Given the description of an element on the screen output the (x, y) to click on. 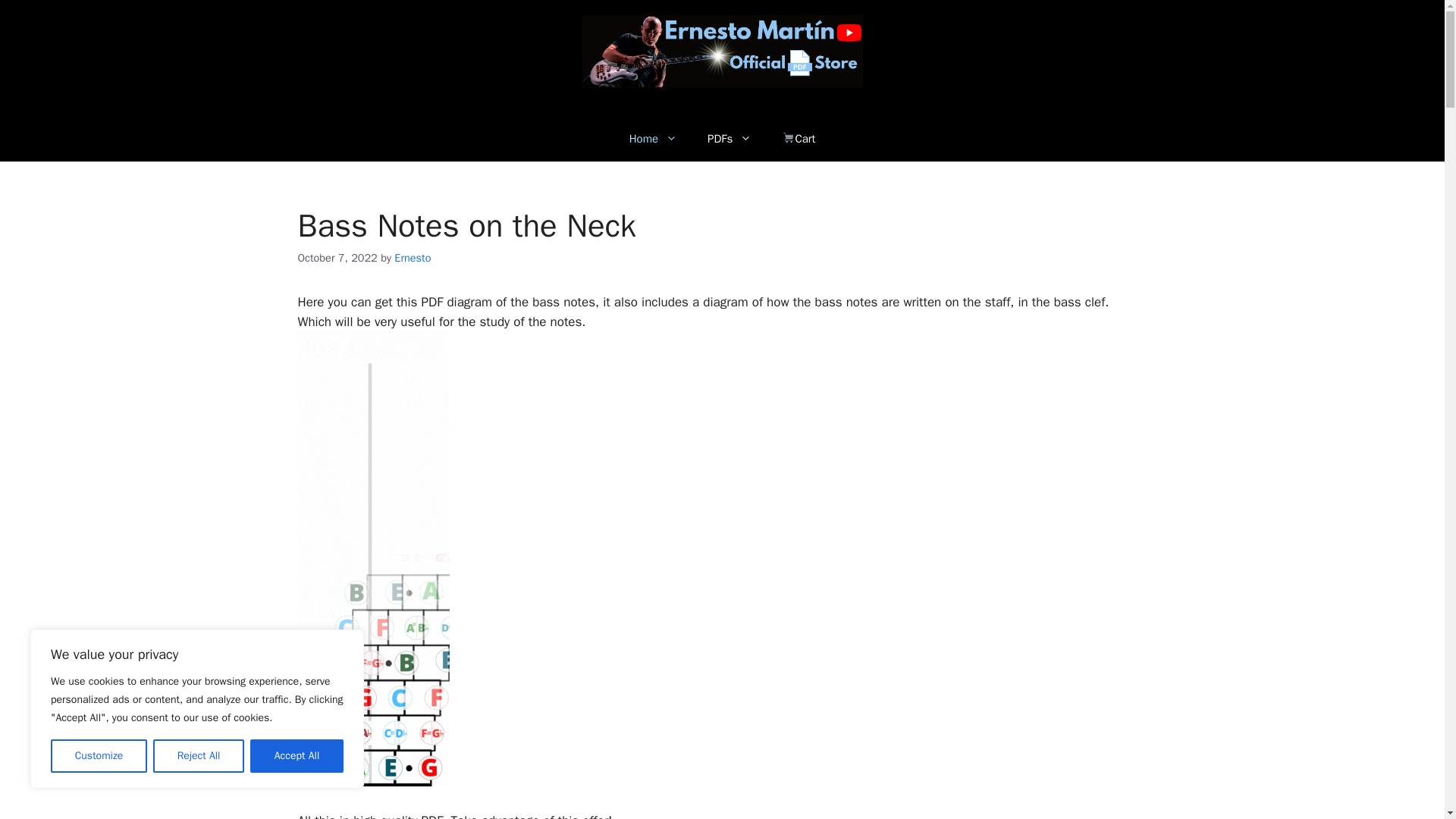
Customize (98, 756)
View all posts by Ernesto (412, 257)
Home (653, 138)
Accept All (296, 756)
Reject All (198, 756)
